Given the description of an element on the screen output the (x, y) to click on. 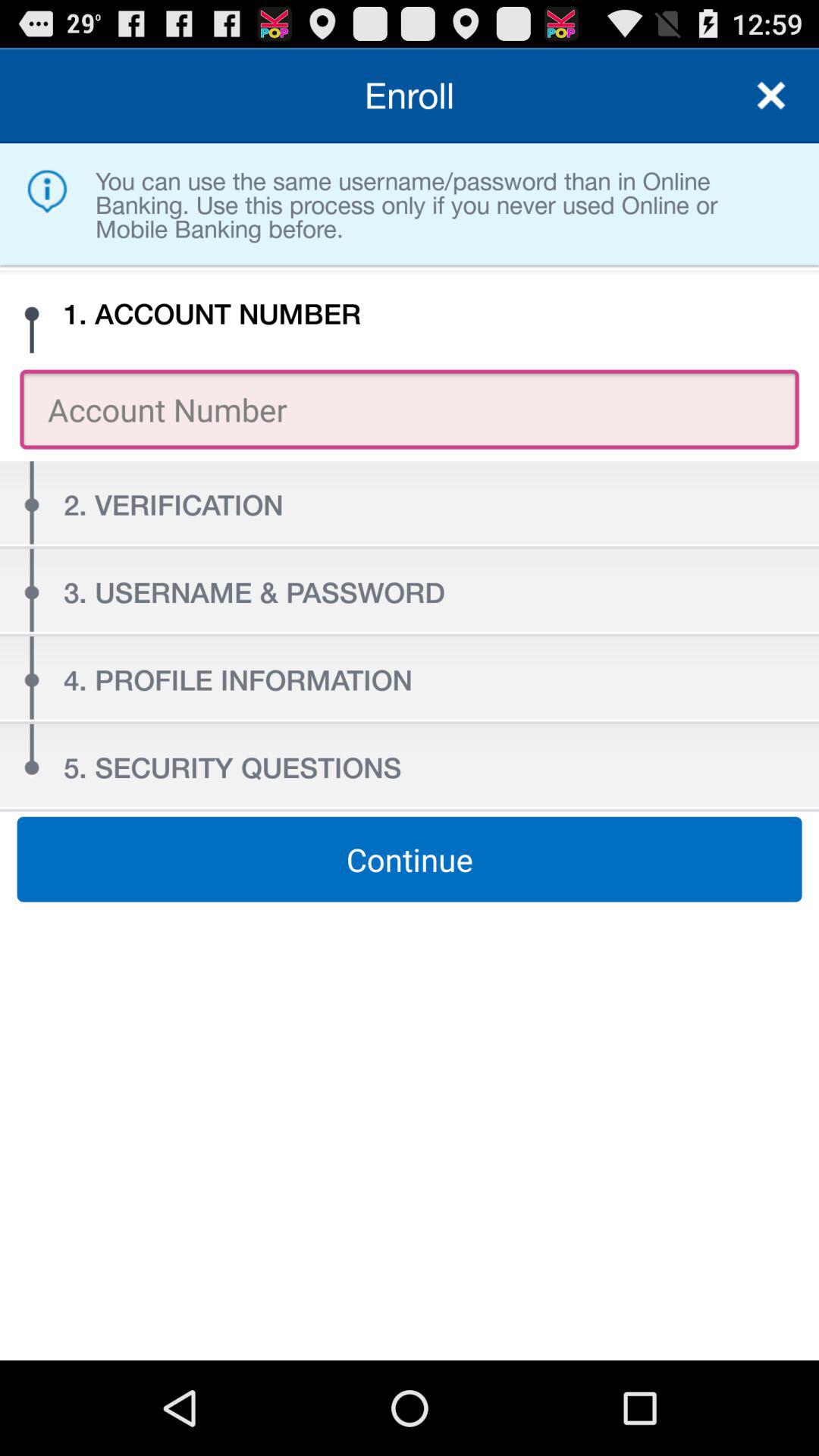
turn on item to the right of enroll item (771, 95)
